Given the description of an element on the screen output the (x, y) to click on. 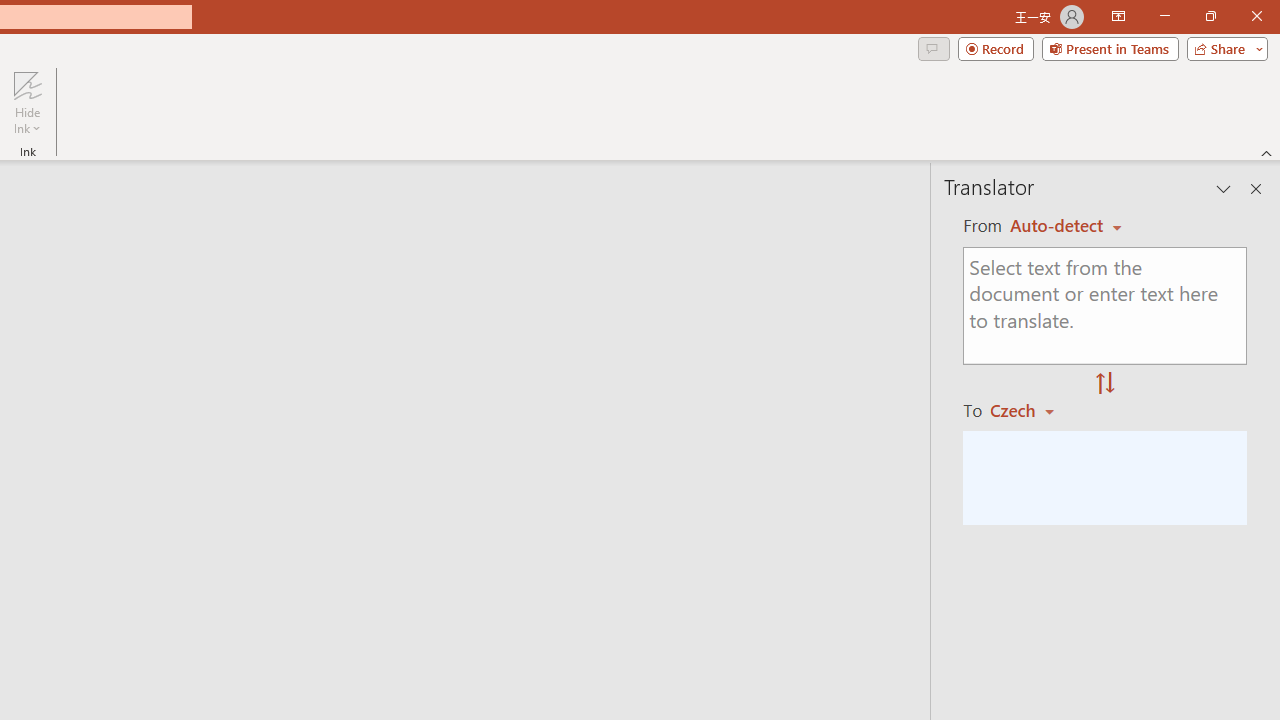
Swap "from" and "to" languages. (1105, 383)
Hide Ink (27, 84)
Auto-detect (1066, 225)
Czech (1030, 409)
Hide Ink (27, 102)
